Given the description of an element on the screen output the (x, y) to click on. 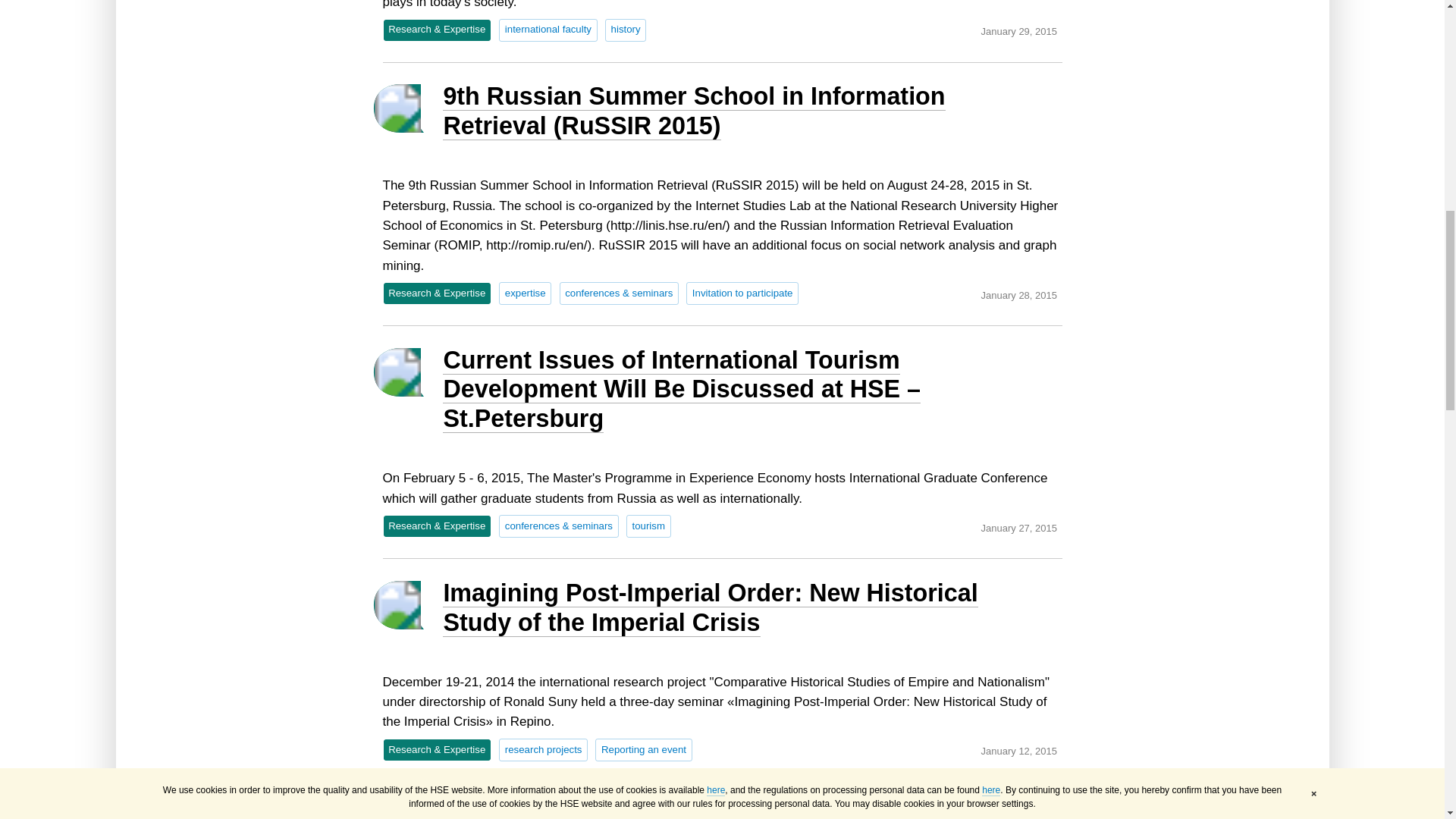
expertise (525, 292)
history (625, 29)
research projects (543, 749)
international faculty (547, 29)
tourism (648, 526)
Invitation to participate (741, 292)
Reporting an event (643, 749)
